Given the description of an element on the screen output the (x, y) to click on. 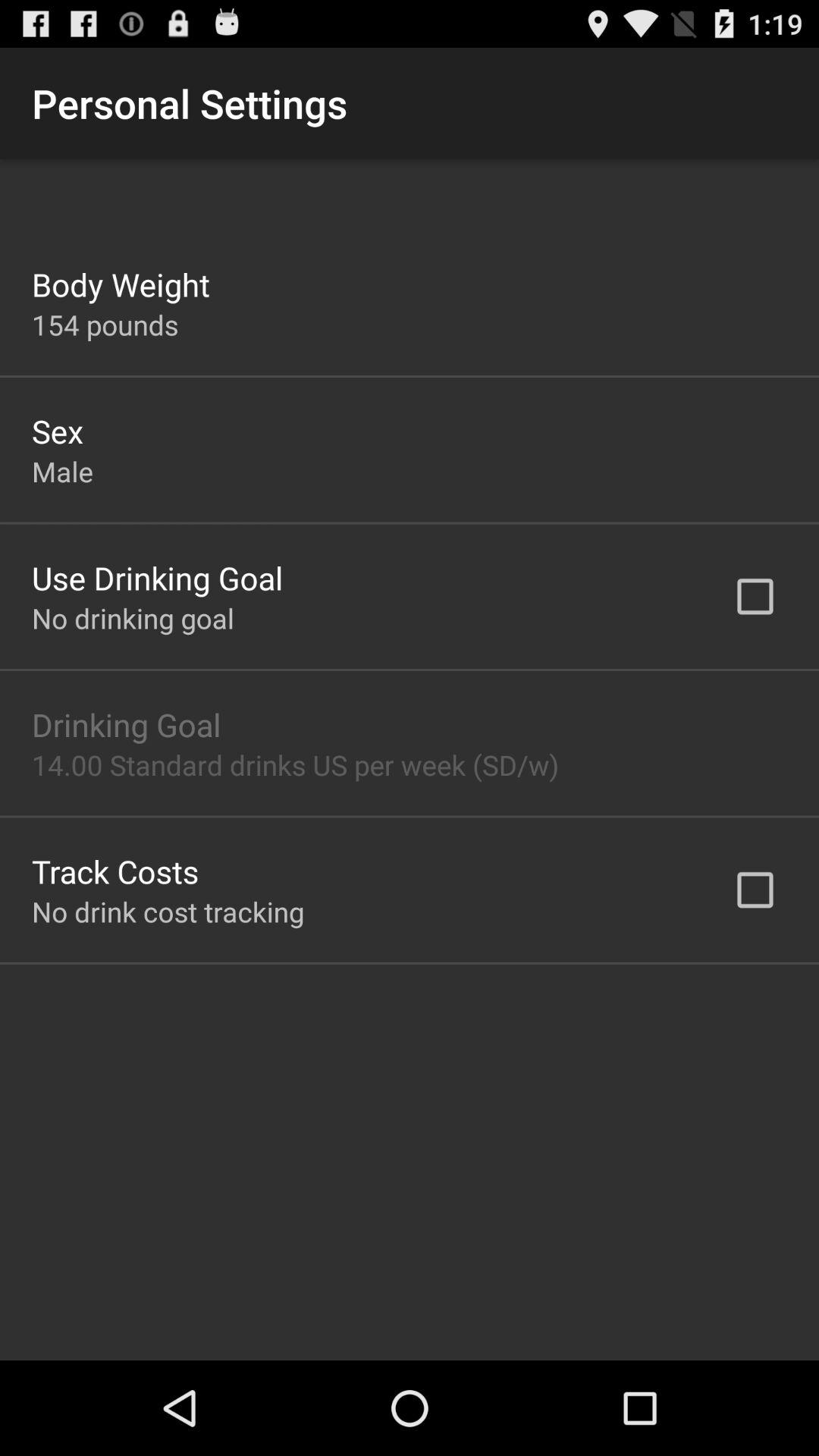
select 154 pounds item (104, 324)
